Given the description of an element on the screen output the (x, y) to click on. 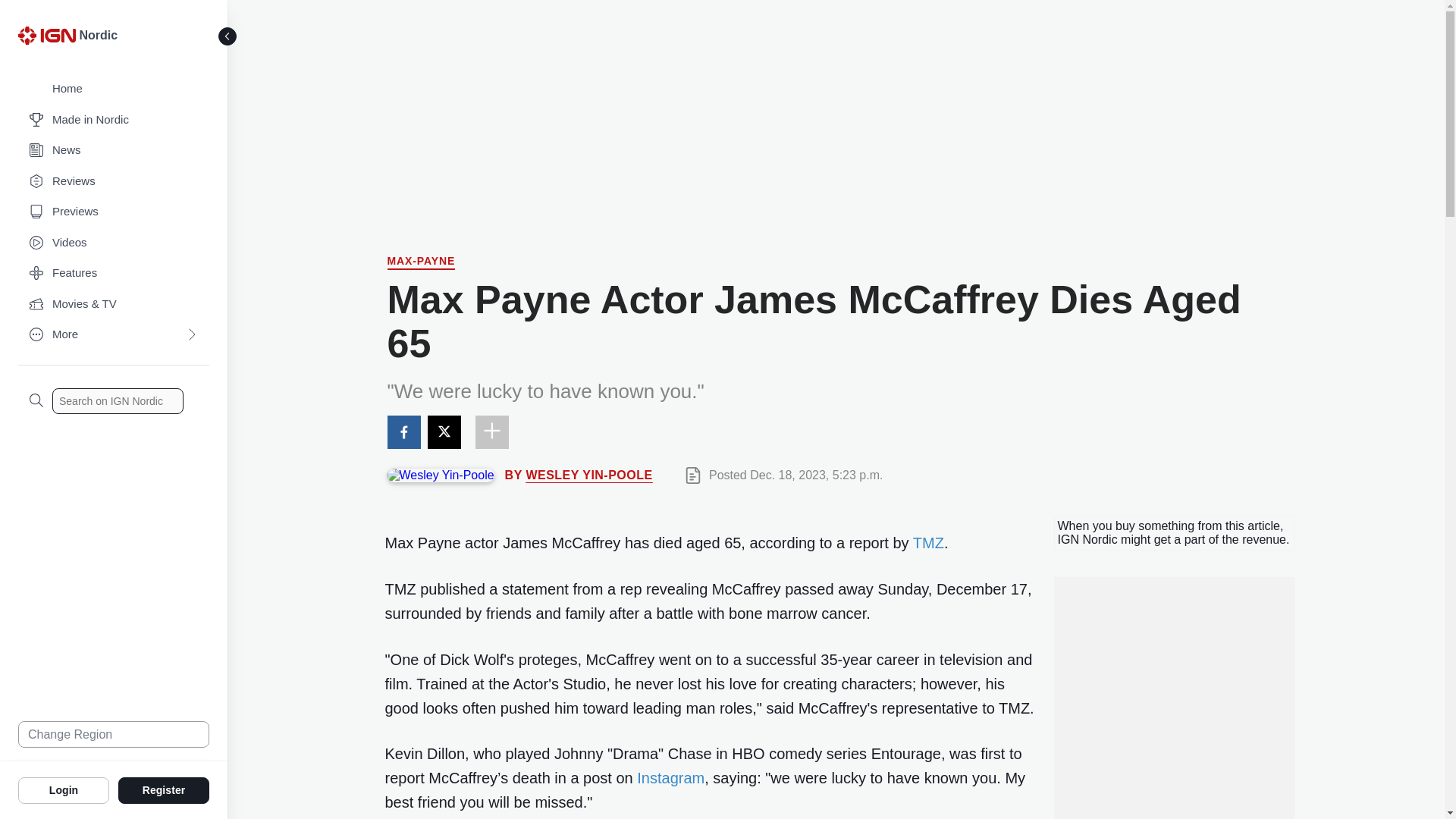
More (113, 334)
IGN Logo (46, 34)
max-payne (420, 262)
MAX-PAYNE (420, 262)
Reviews (113, 181)
WESLEY YIN-POOLE (588, 474)
IGN Logo (48, 39)
TMZ (927, 542)
Toggle Sidebar (226, 36)
Previews (113, 211)
Home (113, 89)
News (113, 150)
Made in Nordic (113, 119)
Register (163, 789)
Login (63, 789)
